Given the description of an element on the screen output the (x, y) to click on. 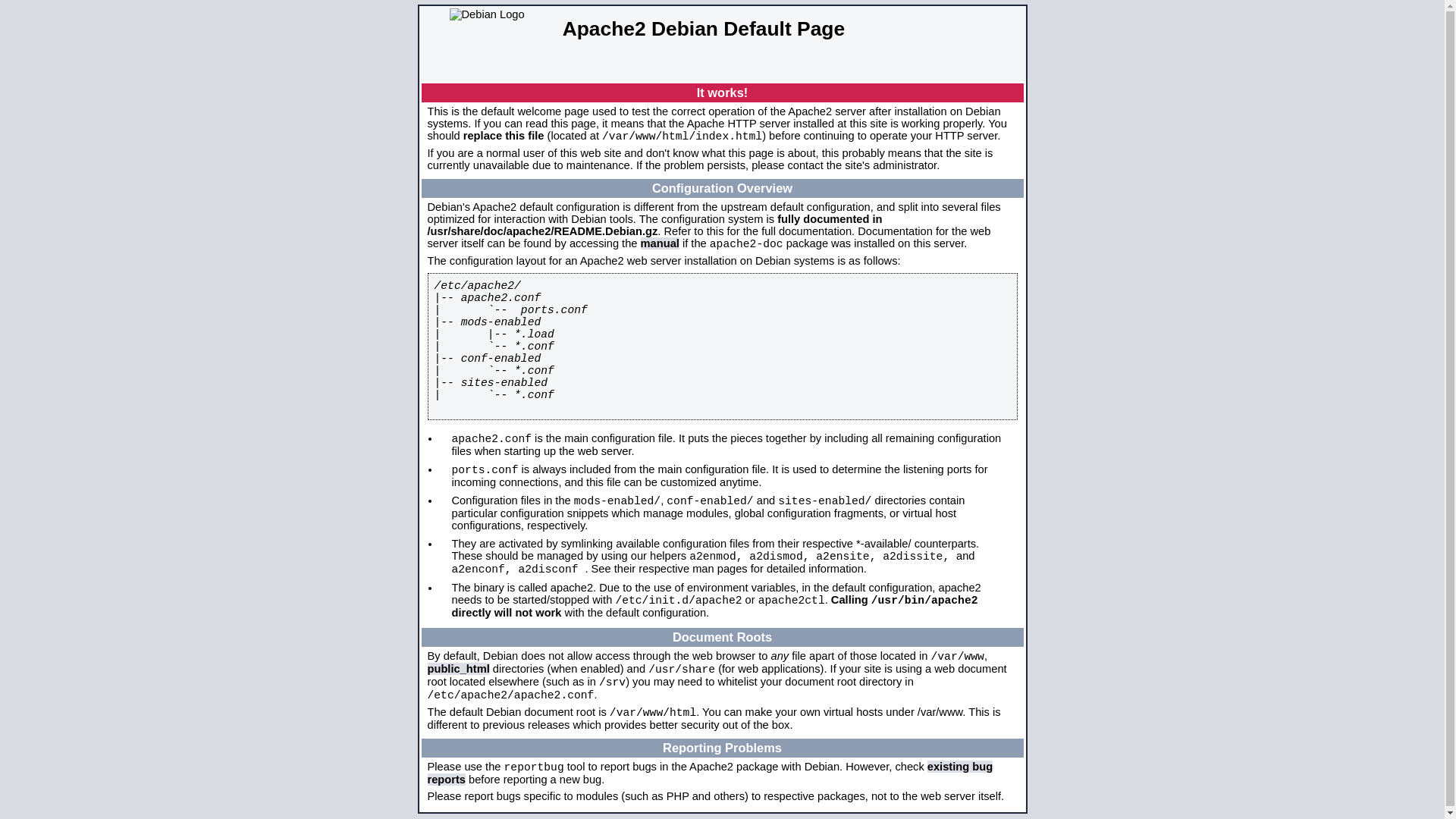
existing bug reports Element type: text (710, 772)
manual Element type: text (659, 243)
public_html Element type: text (458, 668)
